Given the description of an element on the screen output the (x, y) to click on. 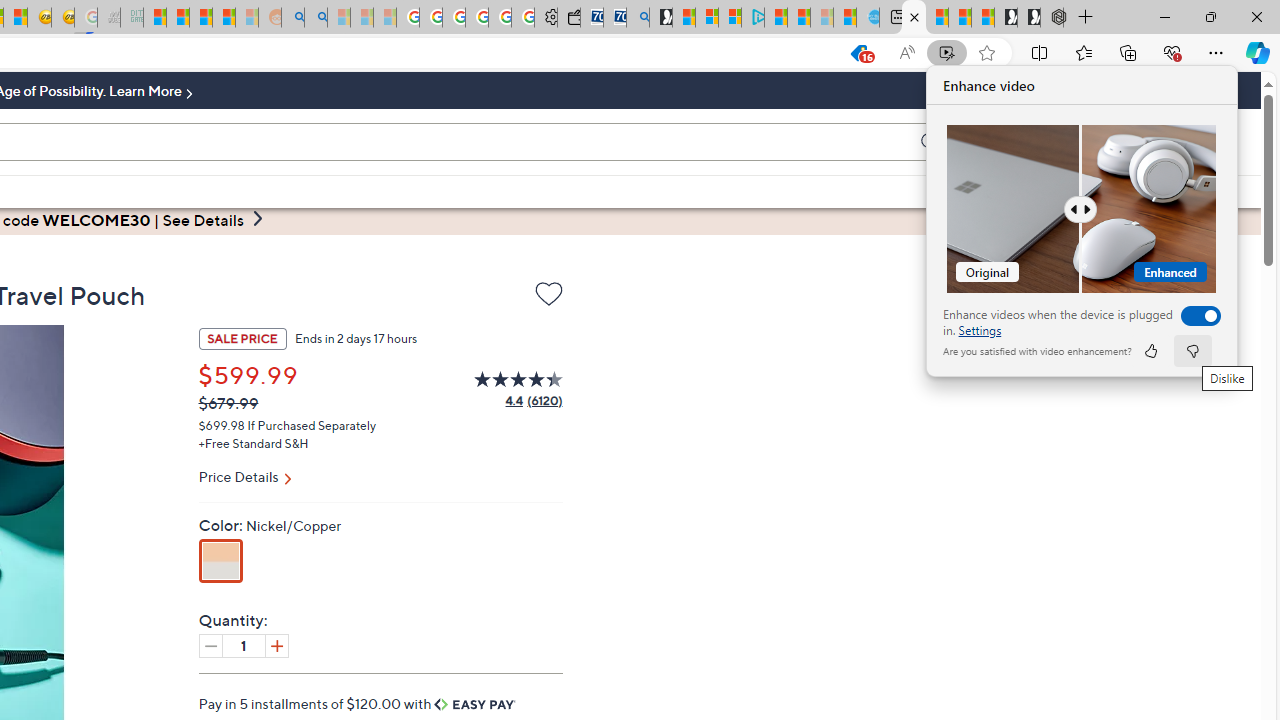
Price Details (380, 479)
Add to Wish List (548, 294)
Wallet (568, 17)
If Purchased Separately (312, 424)
